Given the description of an element on the screen output the (x, y) to click on. 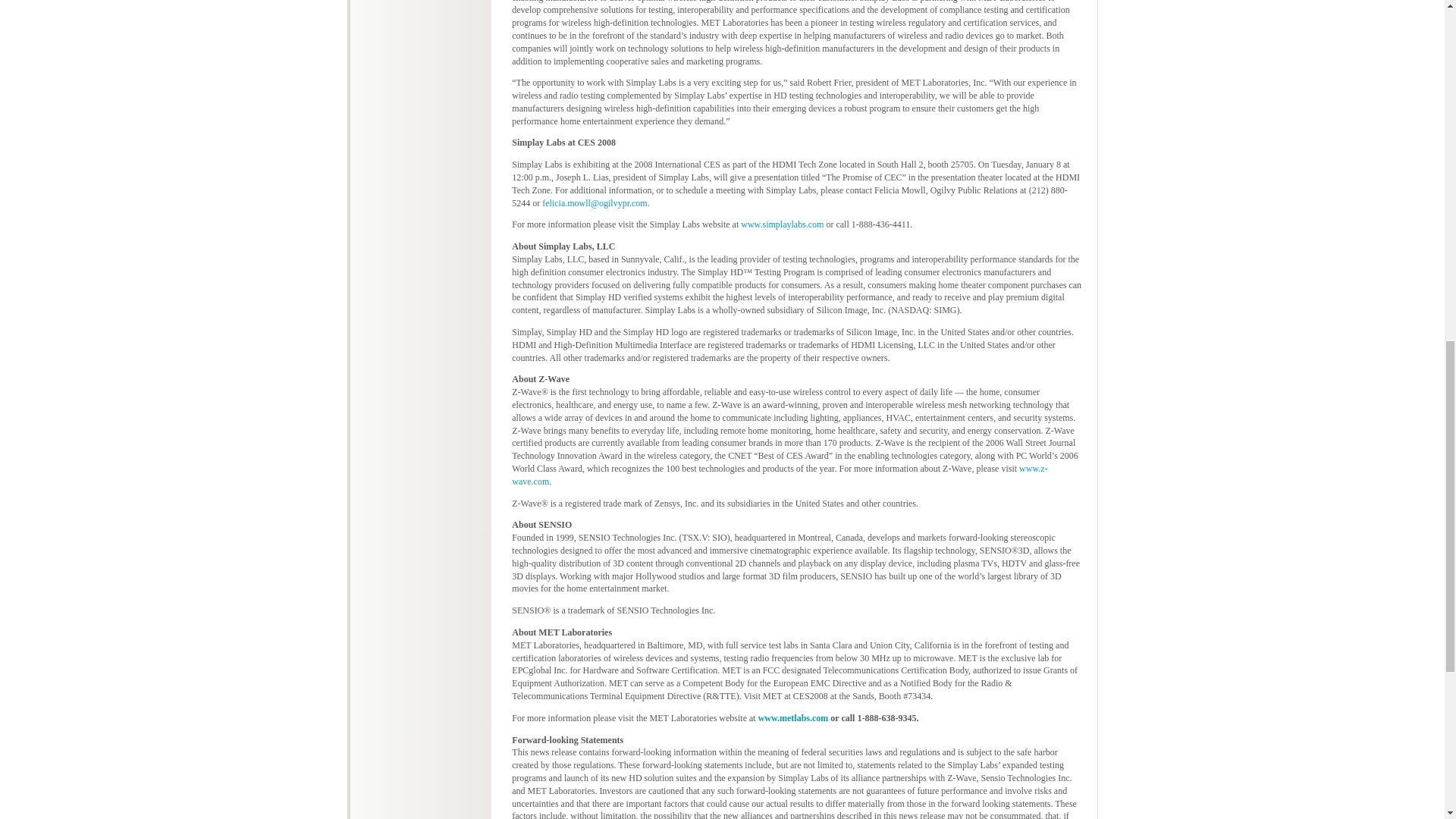
www.simplaylabs.com (782, 224)
www.z-wave.com (779, 474)
www.metlabs.com (793, 717)
